Given the description of an element on the screen output the (x, y) to click on. 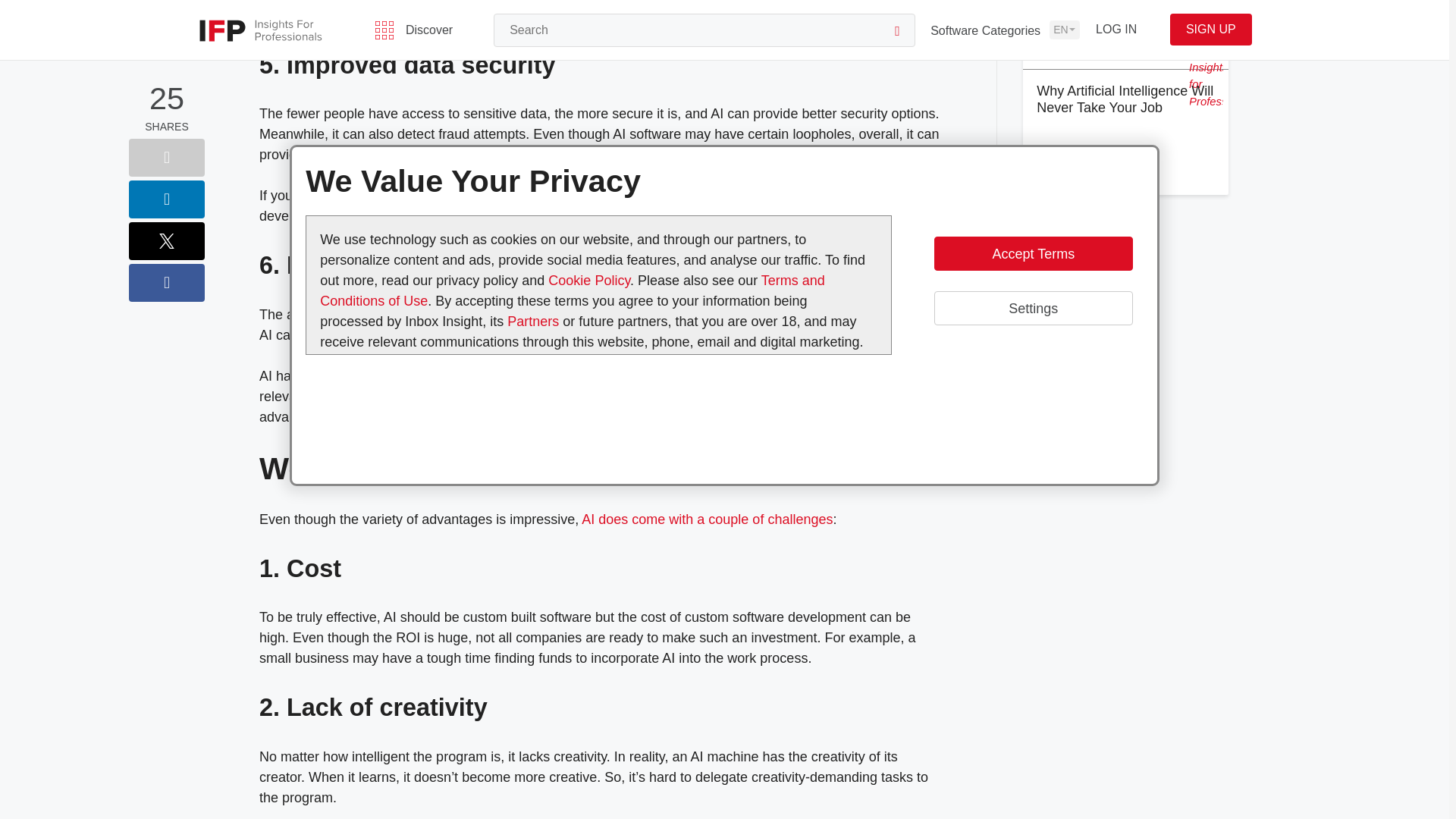
Why Artificial Intelligence Will Never Take Your Job (1124, 99)
10 Challenges of Implementing AI and How to Tackle Them (706, 519)
